Given the description of an element on the screen output the (x, y) to click on. 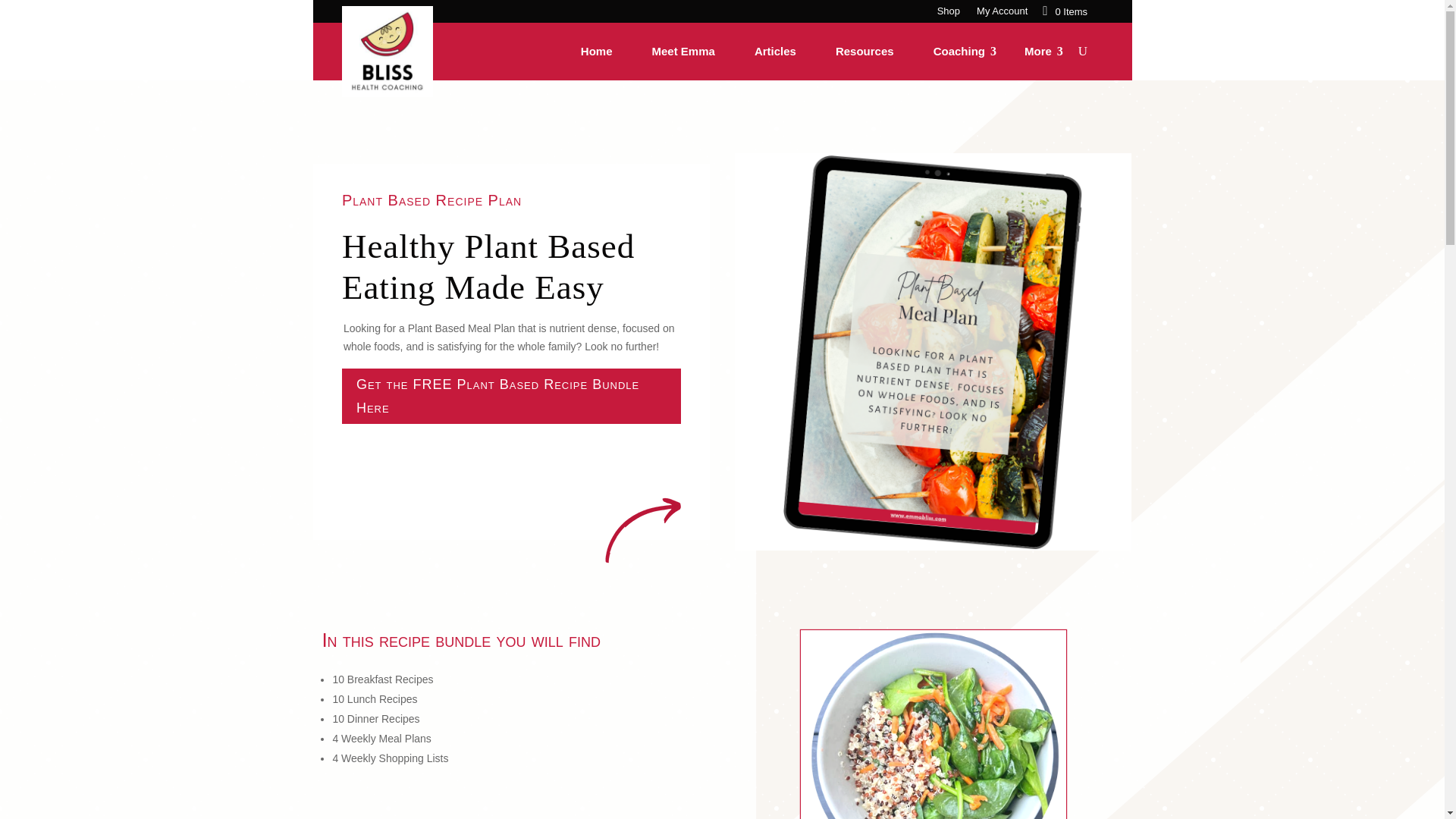
Red Arrow (643, 529)
My Account (1001, 13)
Home (596, 51)
Articles (775, 51)
Resources (864, 51)
Shop (948, 13)
Meet Emma (683, 51)
Coaching (958, 51)
0 Items (1064, 11)
